Given the description of an element on the screen output the (x, y) to click on. 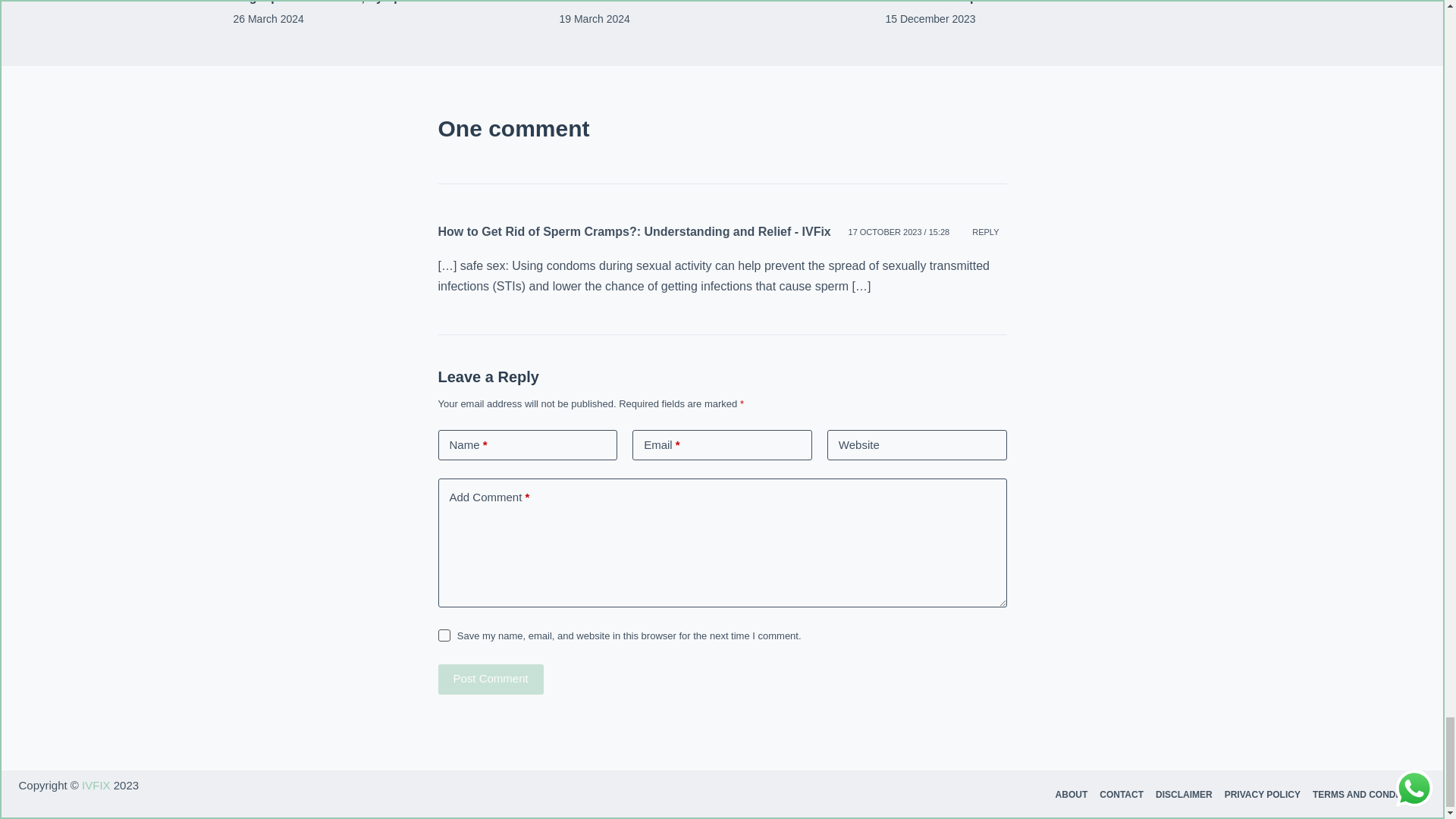
yes (443, 635)
